Given the description of an element on the screen output the (x, y) to click on. 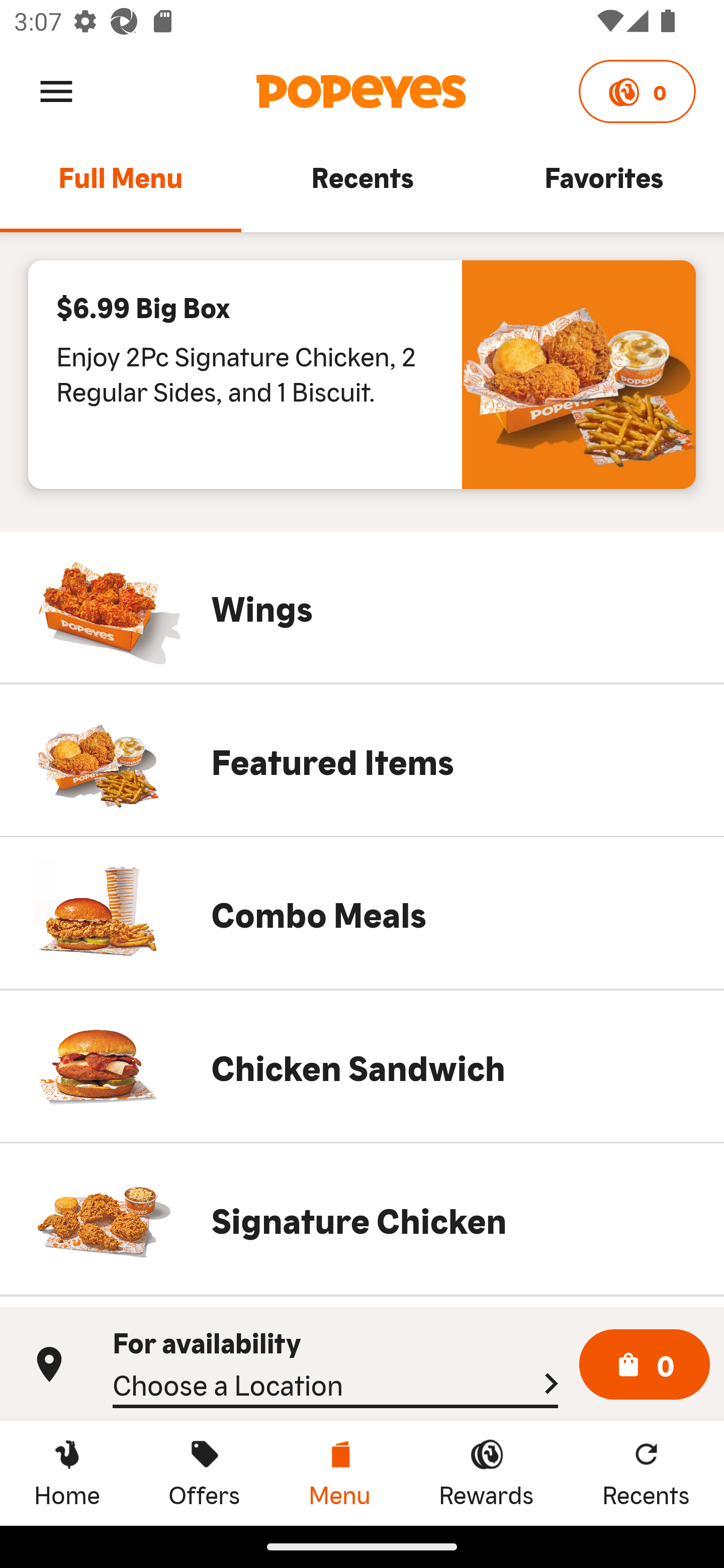
Menu  (56, 90)
0 Points 0 (636, 91)
Full Menu (120, 186)
Recents (361, 186)
Favorites (603, 186)
Wings, Wings Wings Wings (362, 606)
0 Cart total  0 (644, 1364)
Home Home Home (66, 1472)
Offers Offers Offers (203, 1472)
Menu, current page Menu Menu, current page (339, 1472)
Rewards Rewards Rewards (486, 1472)
Recents Recents Recents (646, 1472)
